Given the description of an element on the screen output the (x, y) to click on. 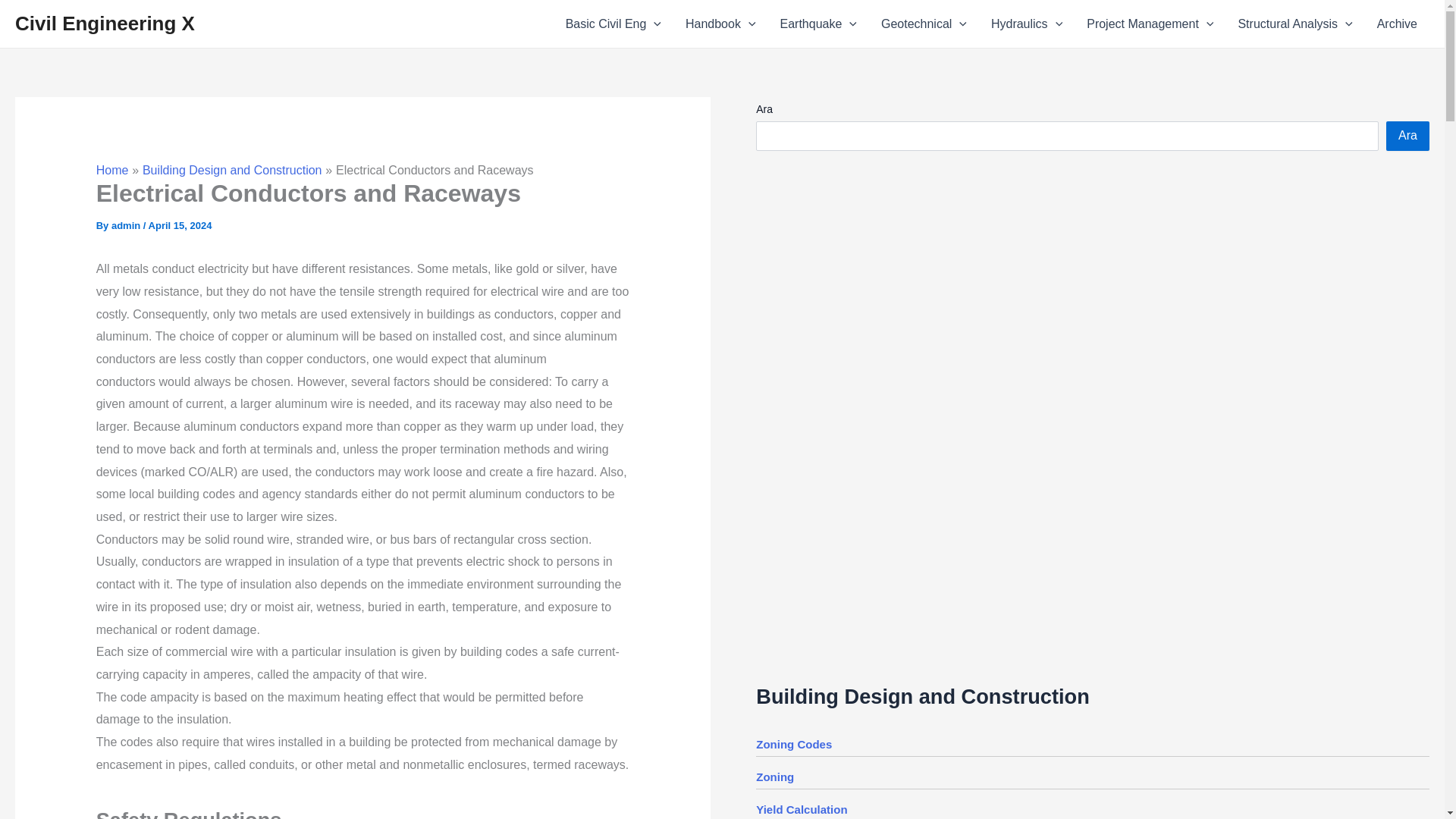
Zoning Codes (793, 744)
Civil Engineering X (104, 23)
View all posts by admin (127, 225)
Basic Civil Eng (612, 23)
Handbook (720, 23)
Zoning (774, 776)
Yield Calculation (801, 809)
